Given the description of an element on the screen output the (x, y) to click on. 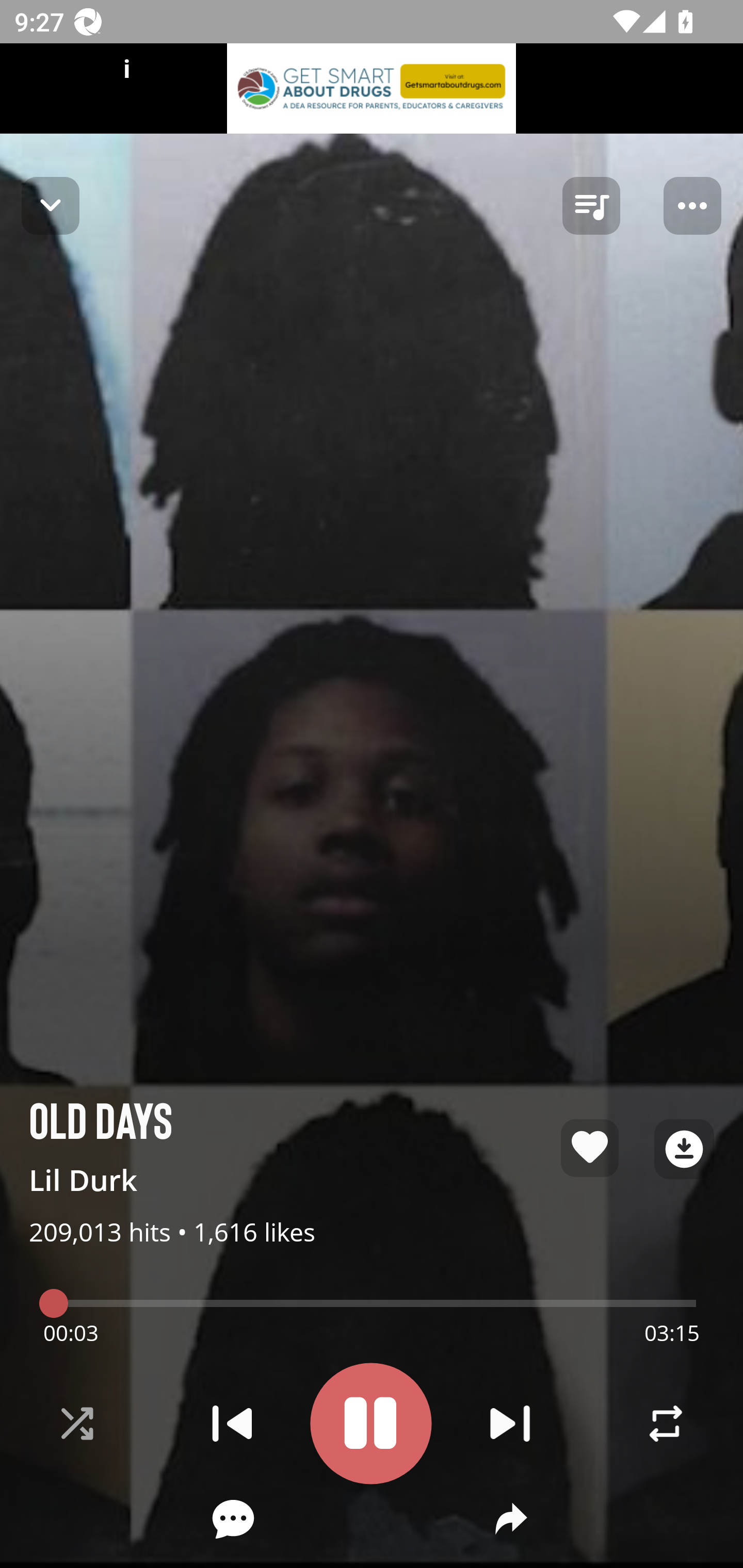
Navigate up (50, 205)
queue (590, 206)
Player options (692, 206)
